Given the description of an element on the screen output the (x, y) to click on. 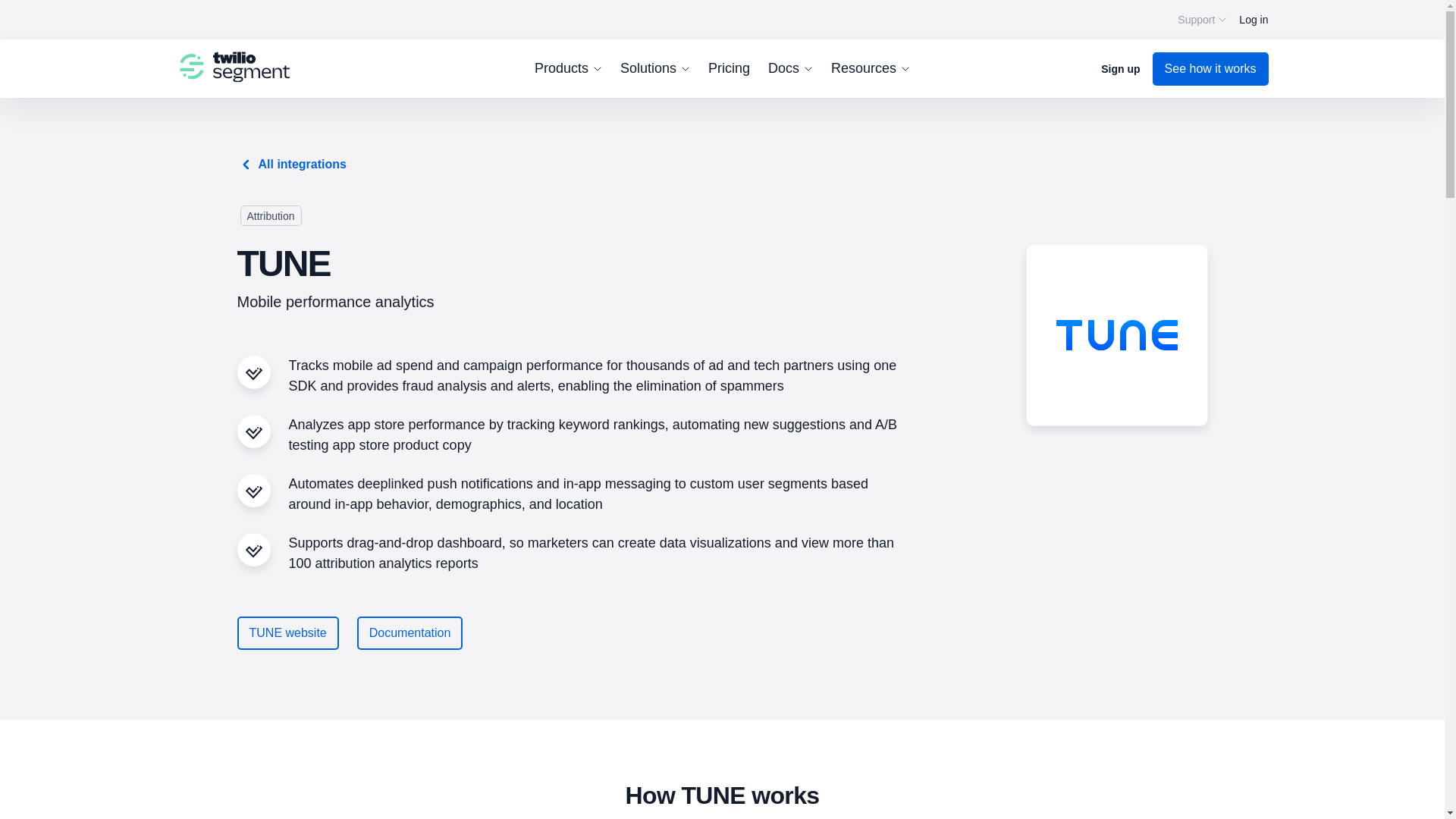
Documentation (409, 633)
Docs (790, 67)
Products (568, 67)
Attribution (269, 215)
Twilio, Inc. (232, 66)
Sign up (1120, 68)
Log in (1253, 19)
Resources (870, 67)
All integrations (290, 163)
TUNE website (286, 633)
